Given the description of an element on the screen output the (x, y) to click on. 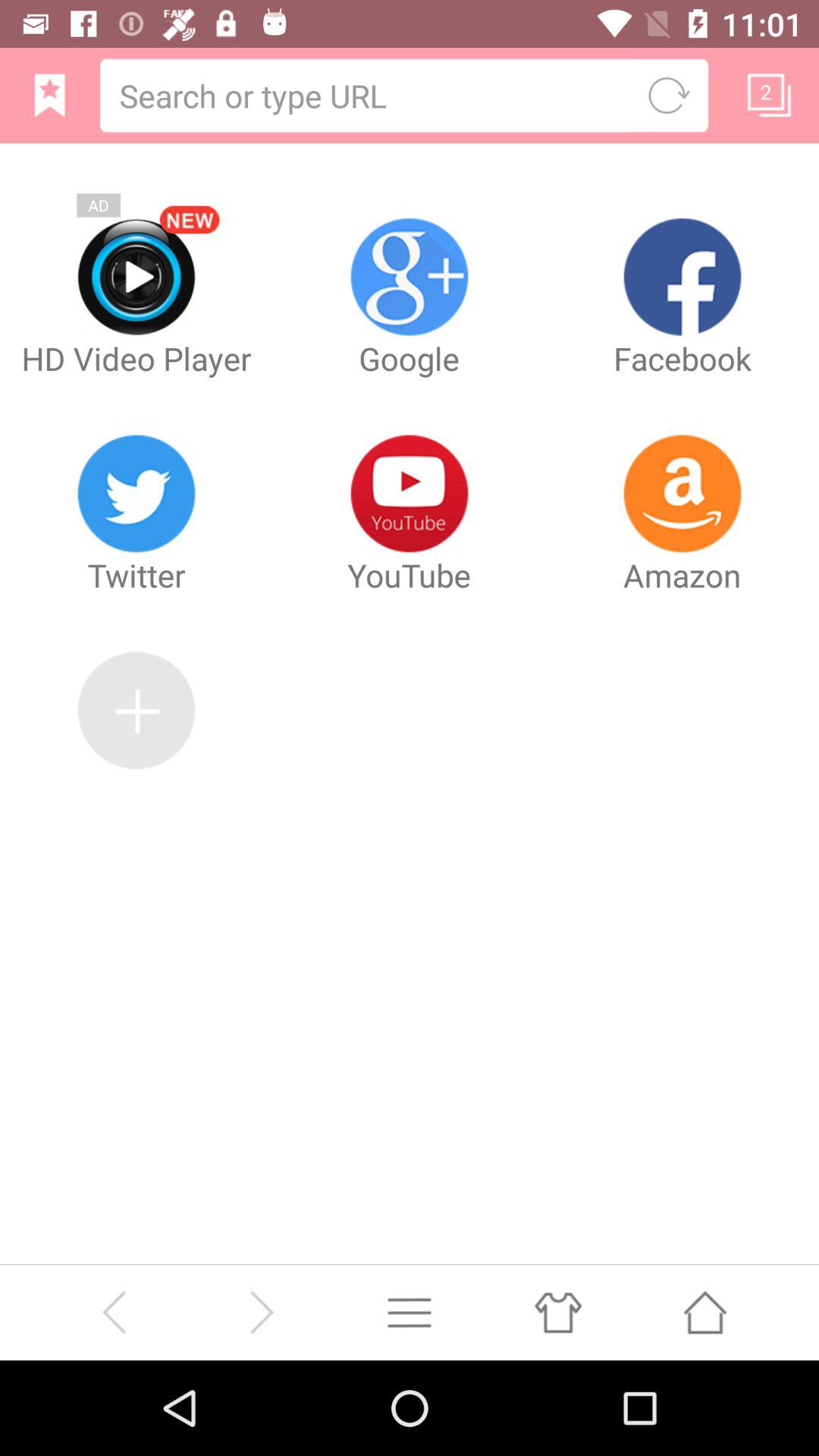
go to minimize (409, 1312)
